Given the description of an element on the screen output the (x, y) to click on. 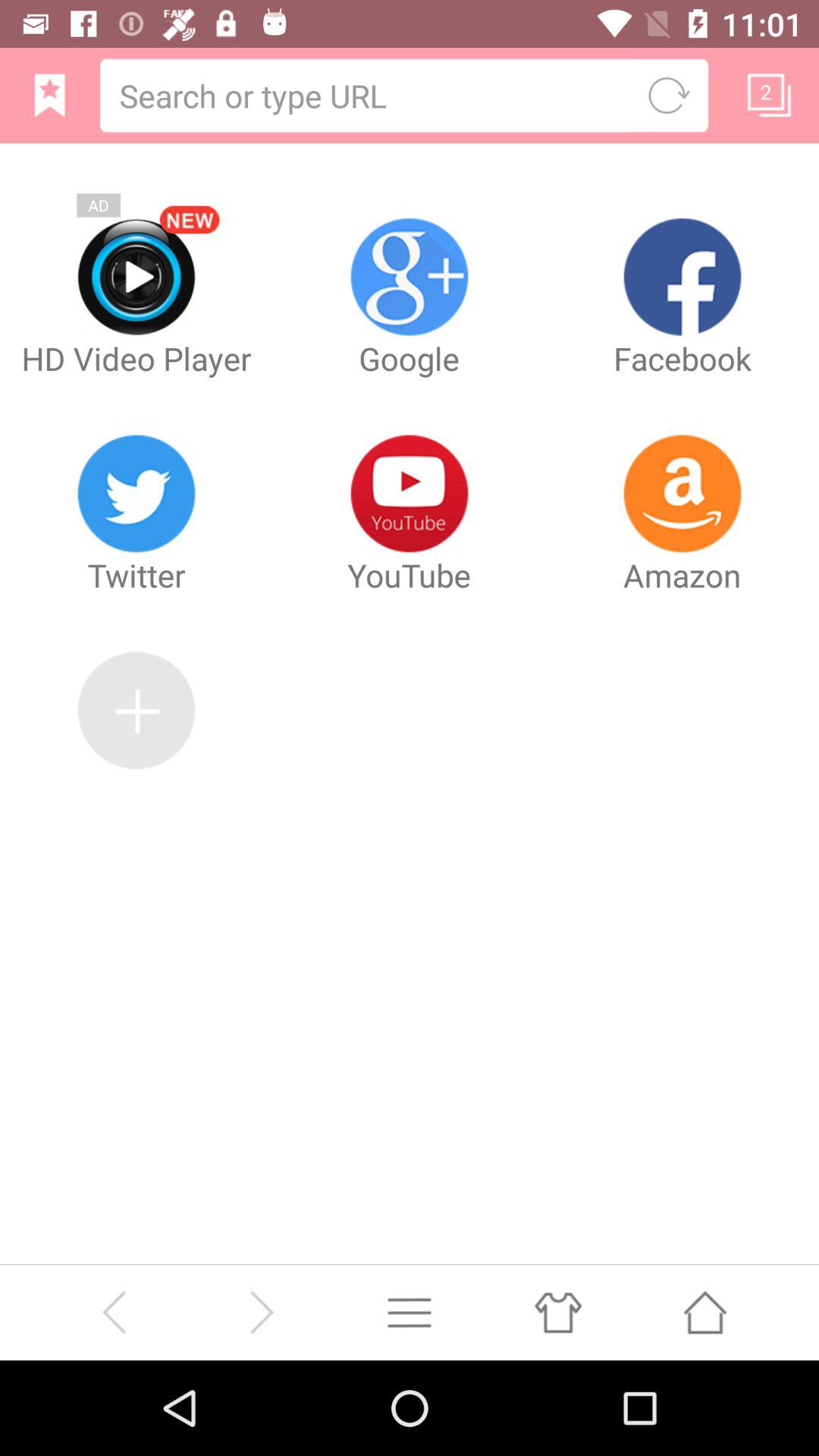
go to minimize (409, 1312)
